Given the description of an element on the screen output the (x, y) to click on. 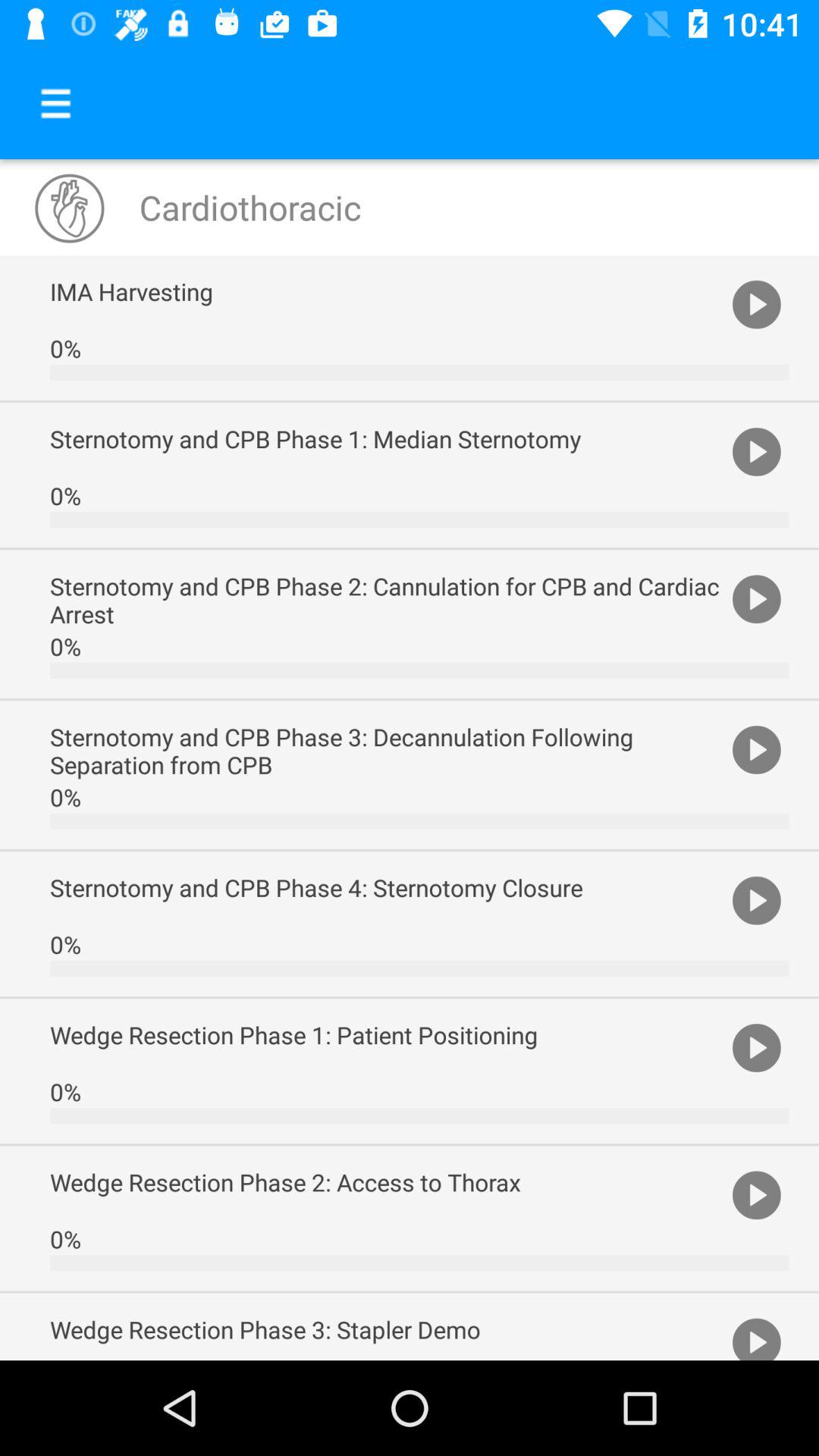
press item to the right of the sternotomy and cpb (756, 597)
